Given the description of an element on the screen output the (x, y) to click on. 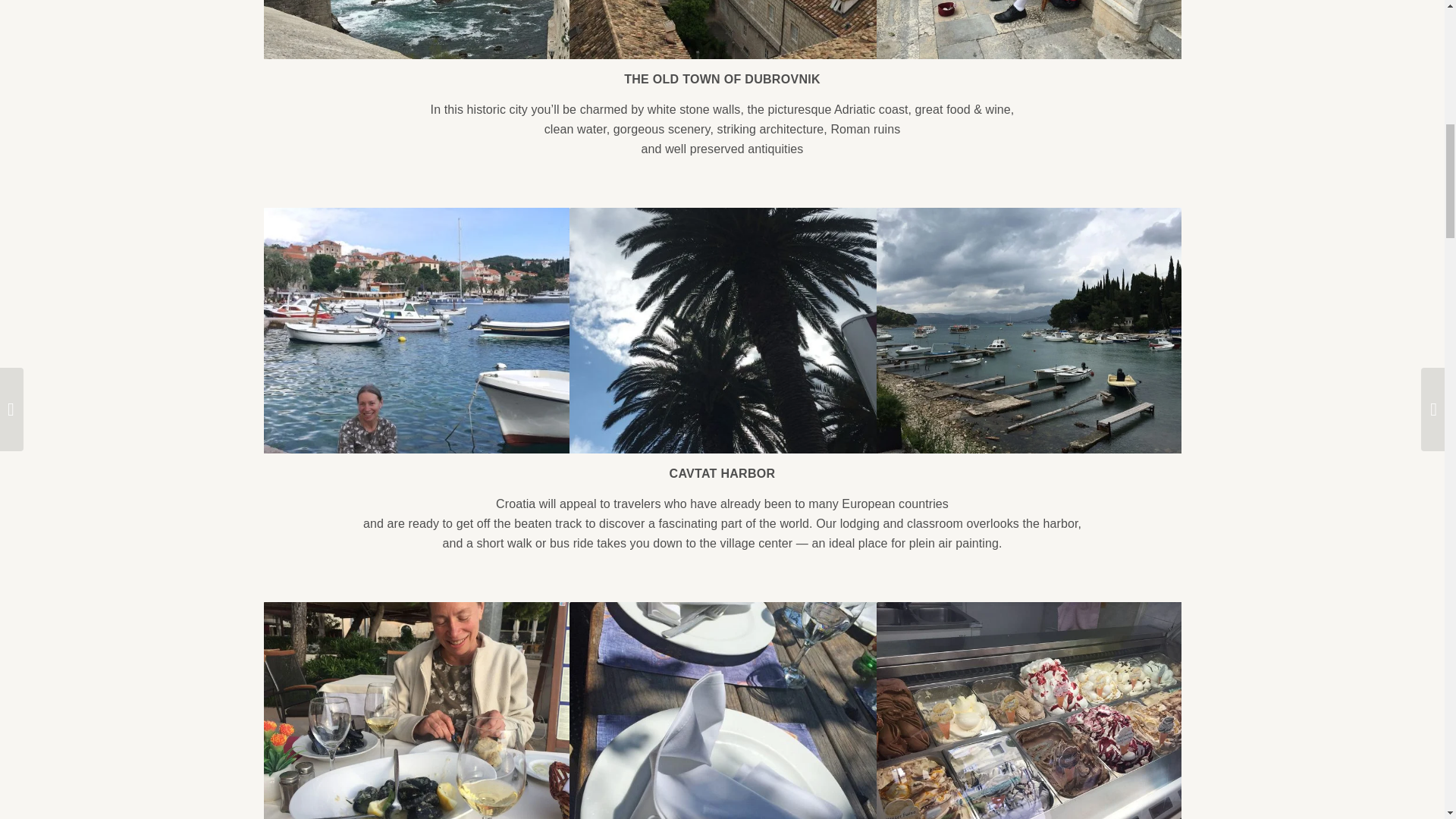
rene-croatia-harborWEB (416, 331)
cavtatWEB2 (1030, 331)
rene-cavtat-musselsWEB (416, 710)
rene-croatia-harborWEB (416, 330)
cavtatWEB2 (1031, 330)
